Given the description of an element on the screen output the (x, y) to click on. 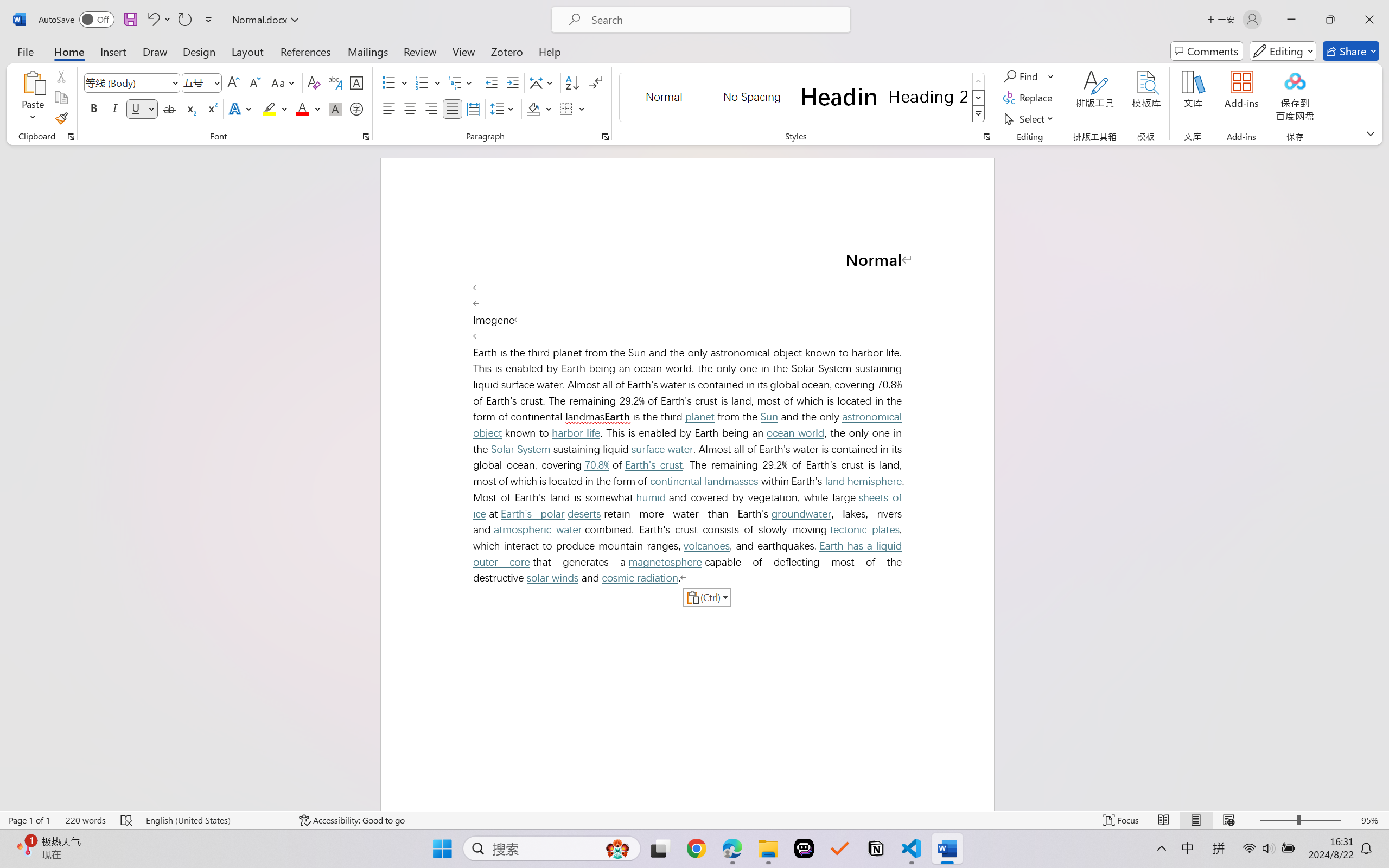
Solar System (520, 448)
Action: Paste alternatives (706, 597)
Line and Paragraph Spacing (503, 108)
AutomationID: QuickStylesGallery (802, 97)
Header -Section 1- (687, 194)
Undo Paste Destination Formatting (152, 19)
Row Down (978, 97)
Justify (452, 108)
